Given the description of an element on the screen output the (x, y) to click on. 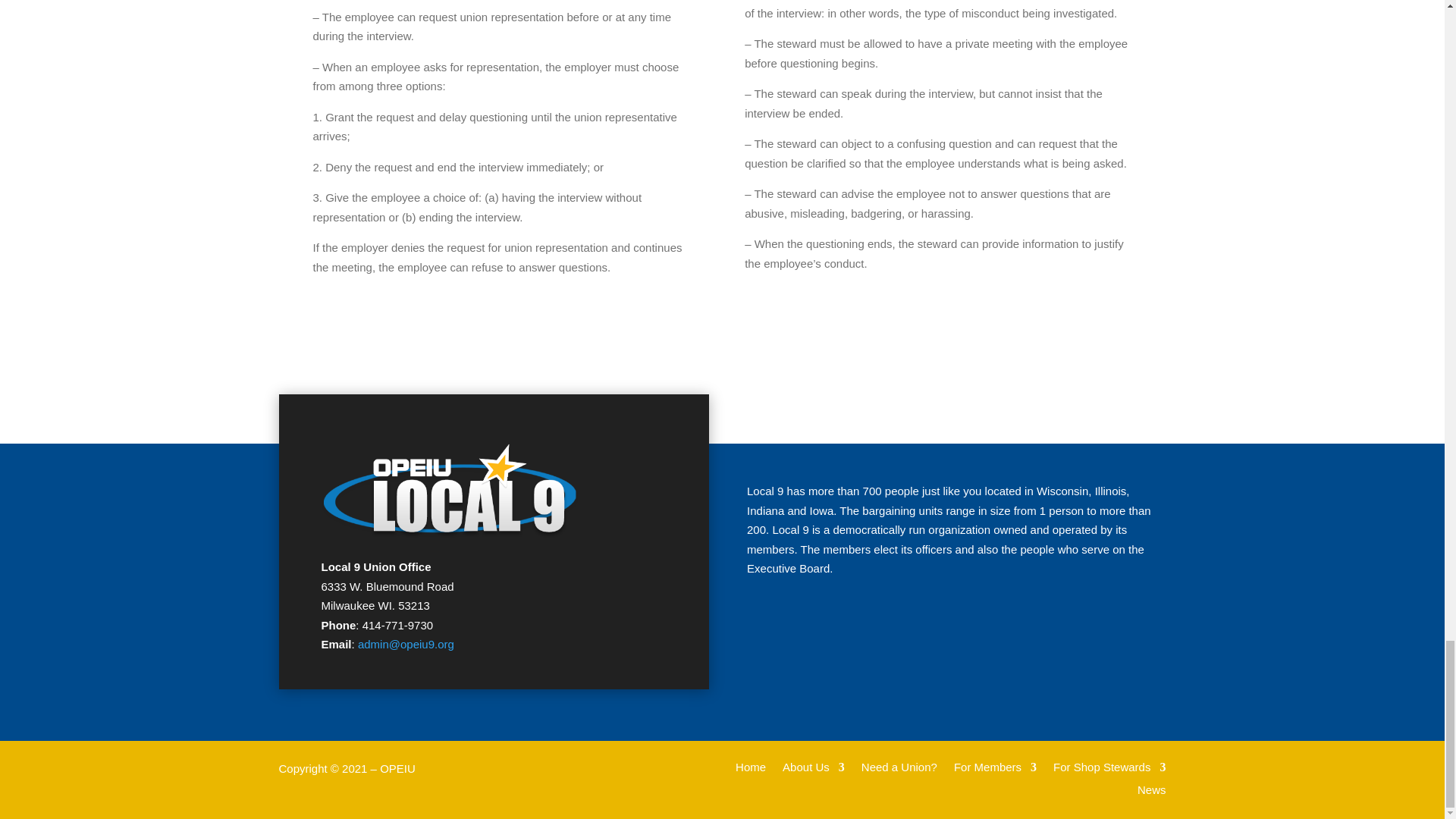
local9-logo (450, 489)
